Given the description of an element on the screen output the (x, y) to click on. 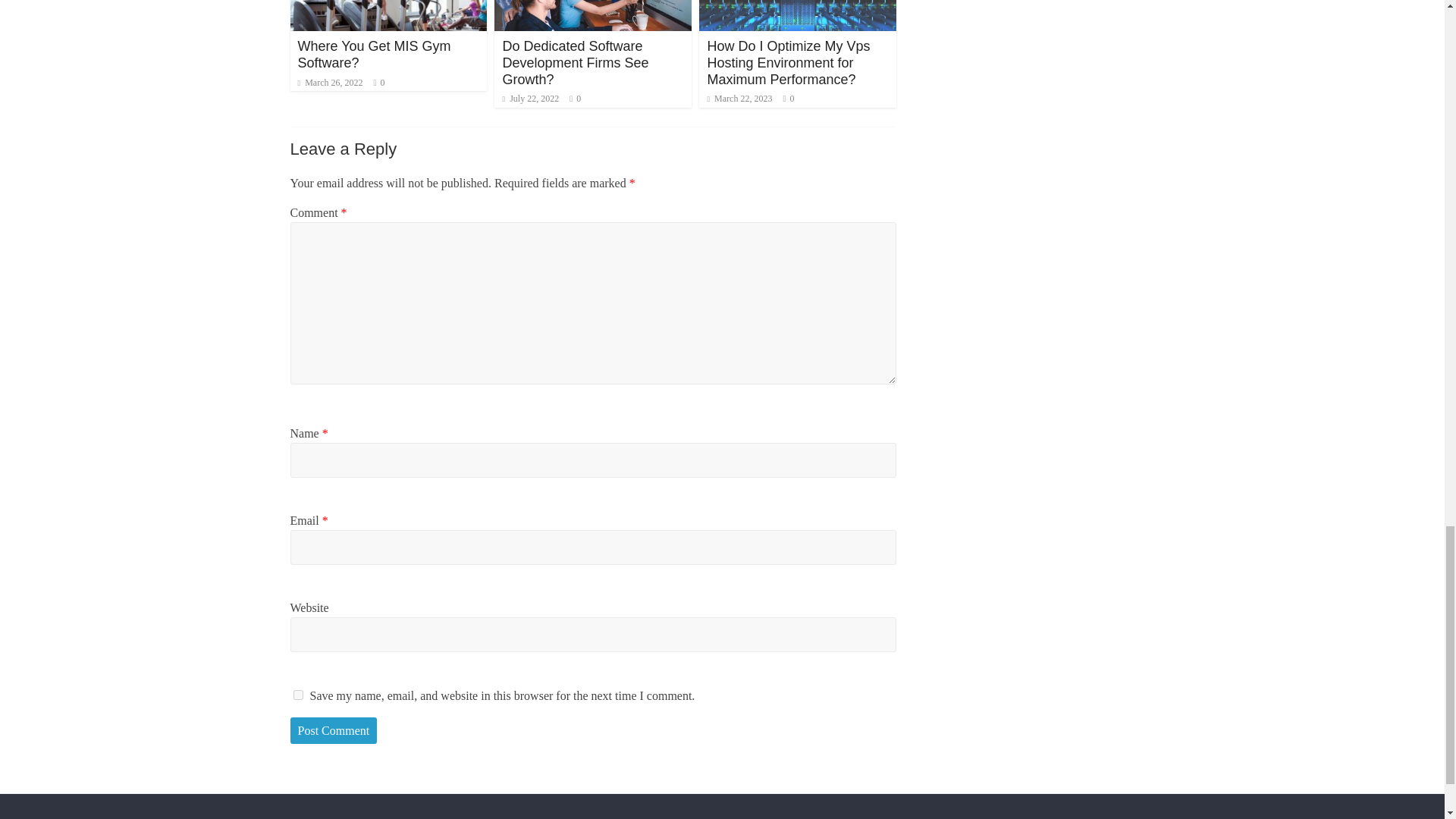
Where You Get MIS Gym Software? (373, 54)
Do Dedicated Software Development Firms See Growth? (574, 62)
Where You Get MIS Gym Software? (373, 54)
yes (297, 695)
March 26, 2022 (329, 81)
Post Comment (333, 730)
7:28 pm (329, 81)
